Given the description of an element on the screen output the (x, y) to click on. 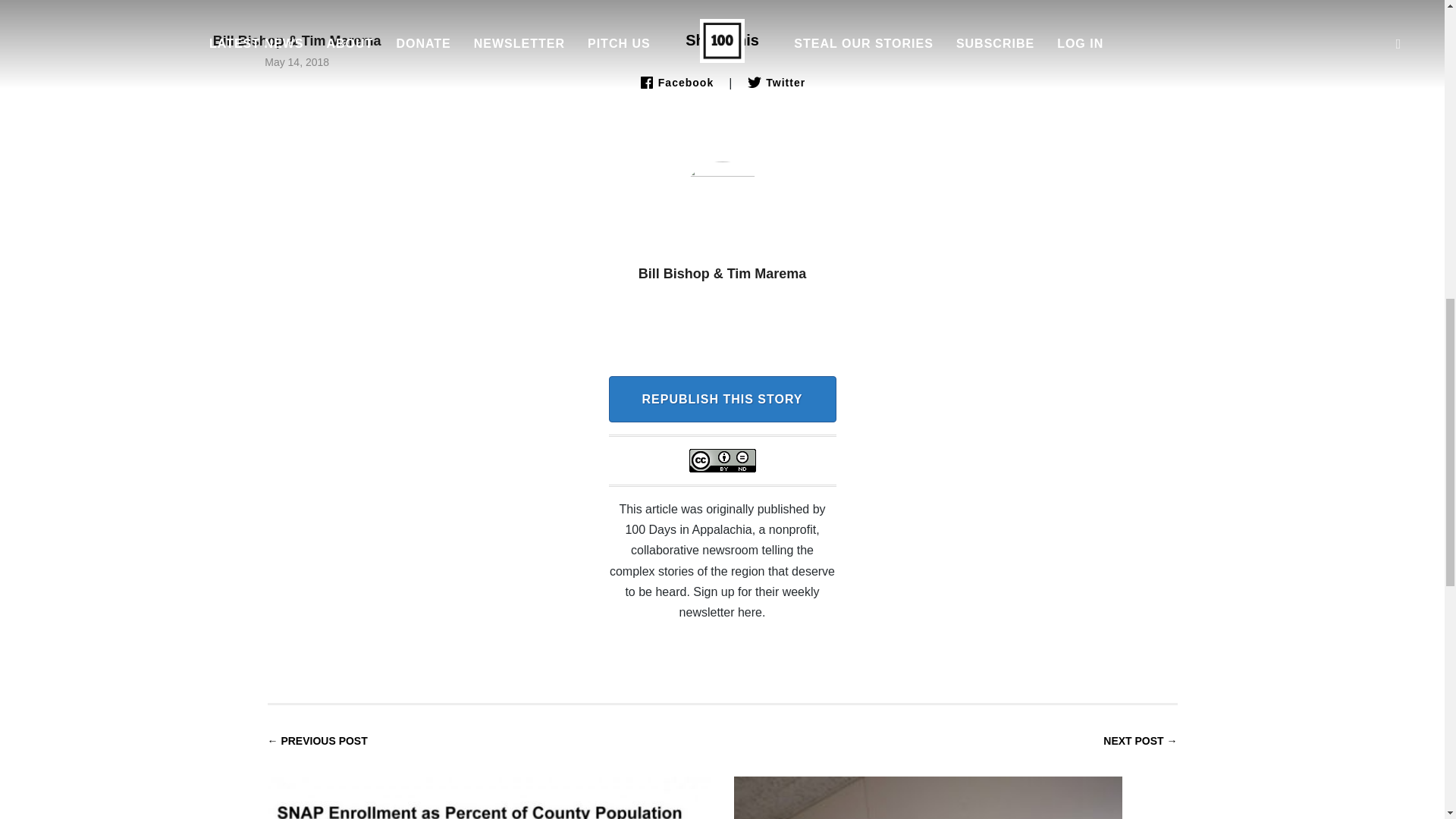
REPUBLISH THIS STORY (721, 398)
Tweet this on Twitter (775, 82)
Facebook (676, 82)
Will interest on the debt exceed defense spending by 2022? (955, 777)
Twitter (775, 82)
Share this on Facebook (676, 82)
The Geography of Food Stamps (488, 777)
